Given the description of an element on the screen output the (x, y) to click on. 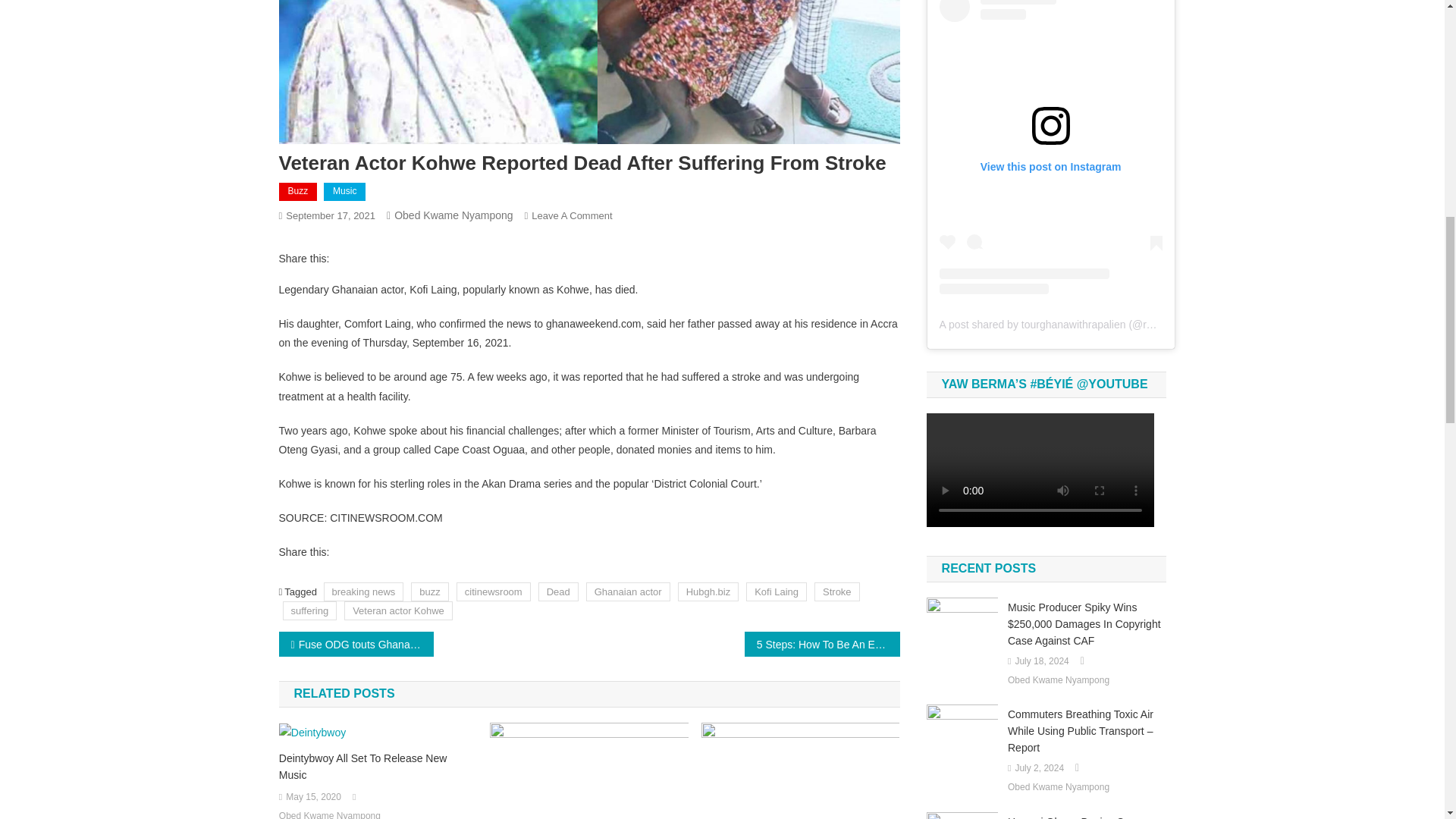
Veteran actor Kohwe (397, 610)
Kofi Laing (775, 591)
Hubgh.biz (708, 591)
breaking news (363, 591)
September 17, 2021 (330, 215)
Dead (558, 591)
Music (344, 191)
citinewsroom (494, 591)
buzz (429, 591)
Buzz (298, 191)
Obed Kwame Nyampong (453, 215)
suffering (309, 610)
Ghanaian actor (627, 591)
Stroke (836, 591)
